Given the description of an element on the screen output the (x, y) to click on. 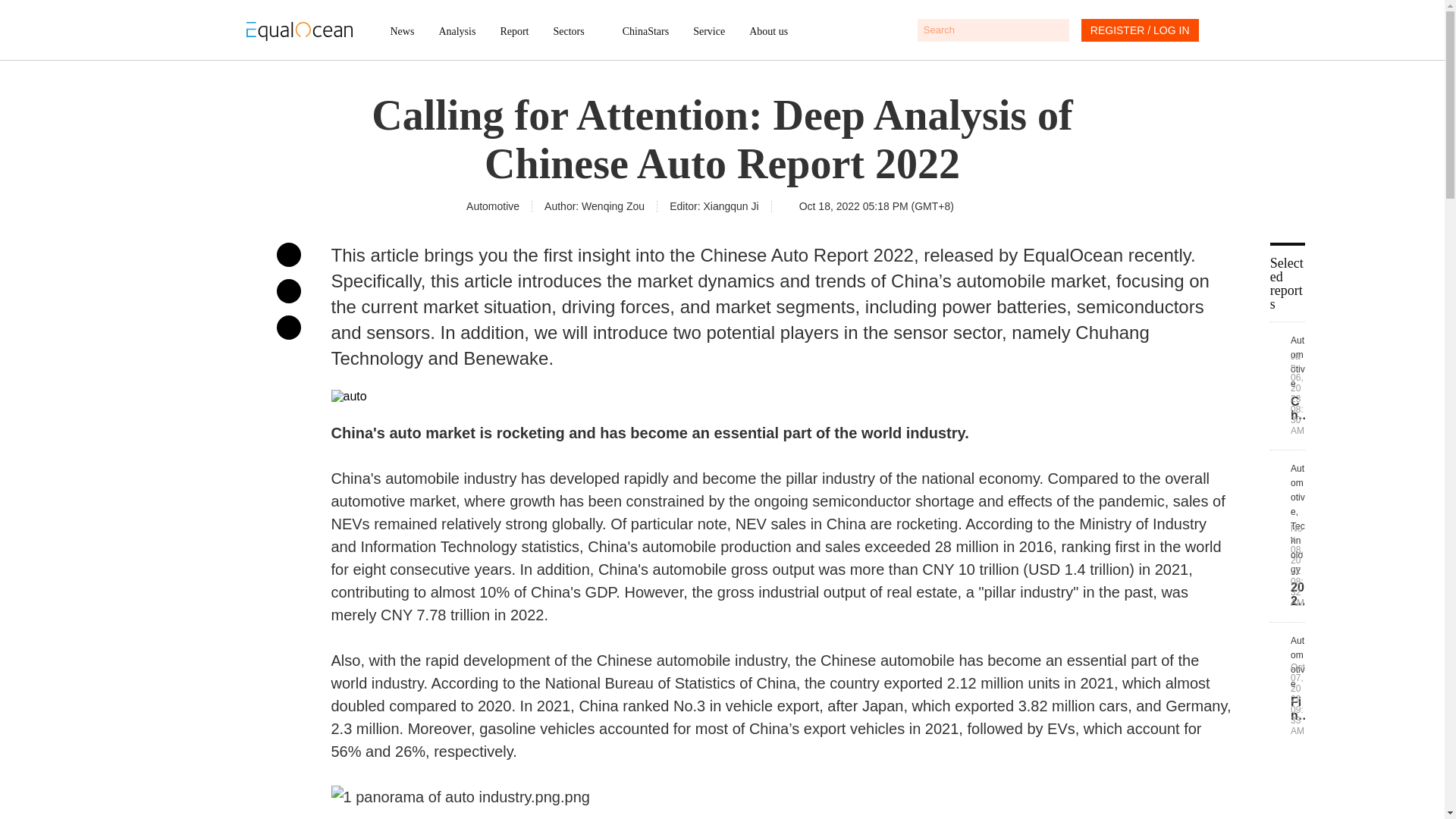
ChinaStars (645, 31)
Automotive (492, 205)
16660841819521.png (781, 796)
